Given the description of an element on the screen output the (x, y) to click on. 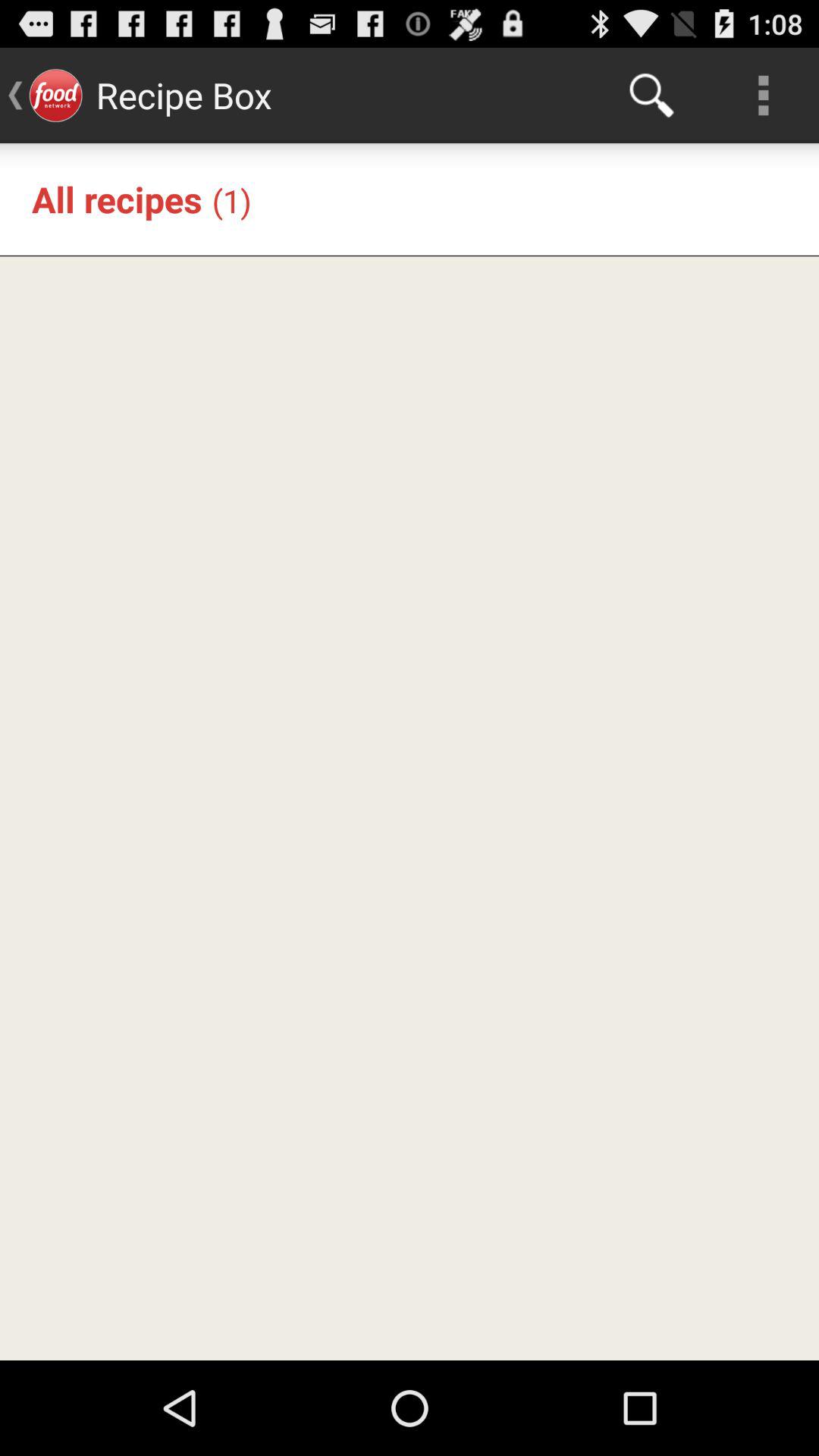
choose item next to all recipes item (231, 200)
